Given the description of an element on the screen output the (x, y) to click on. 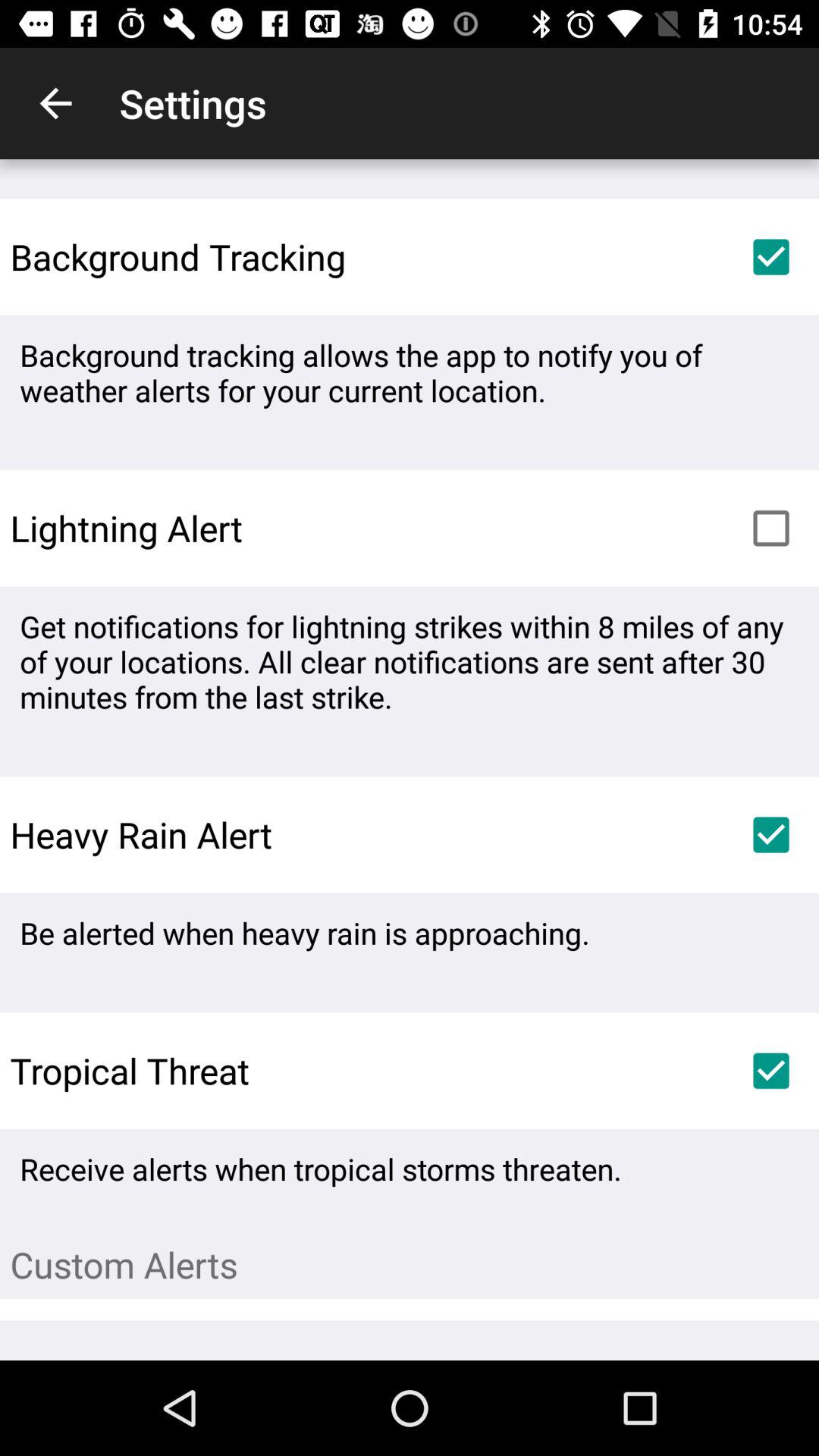
choose item above the background tracking icon (55, 103)
